Given the description of an element on the screen output the (x, y) to click on. 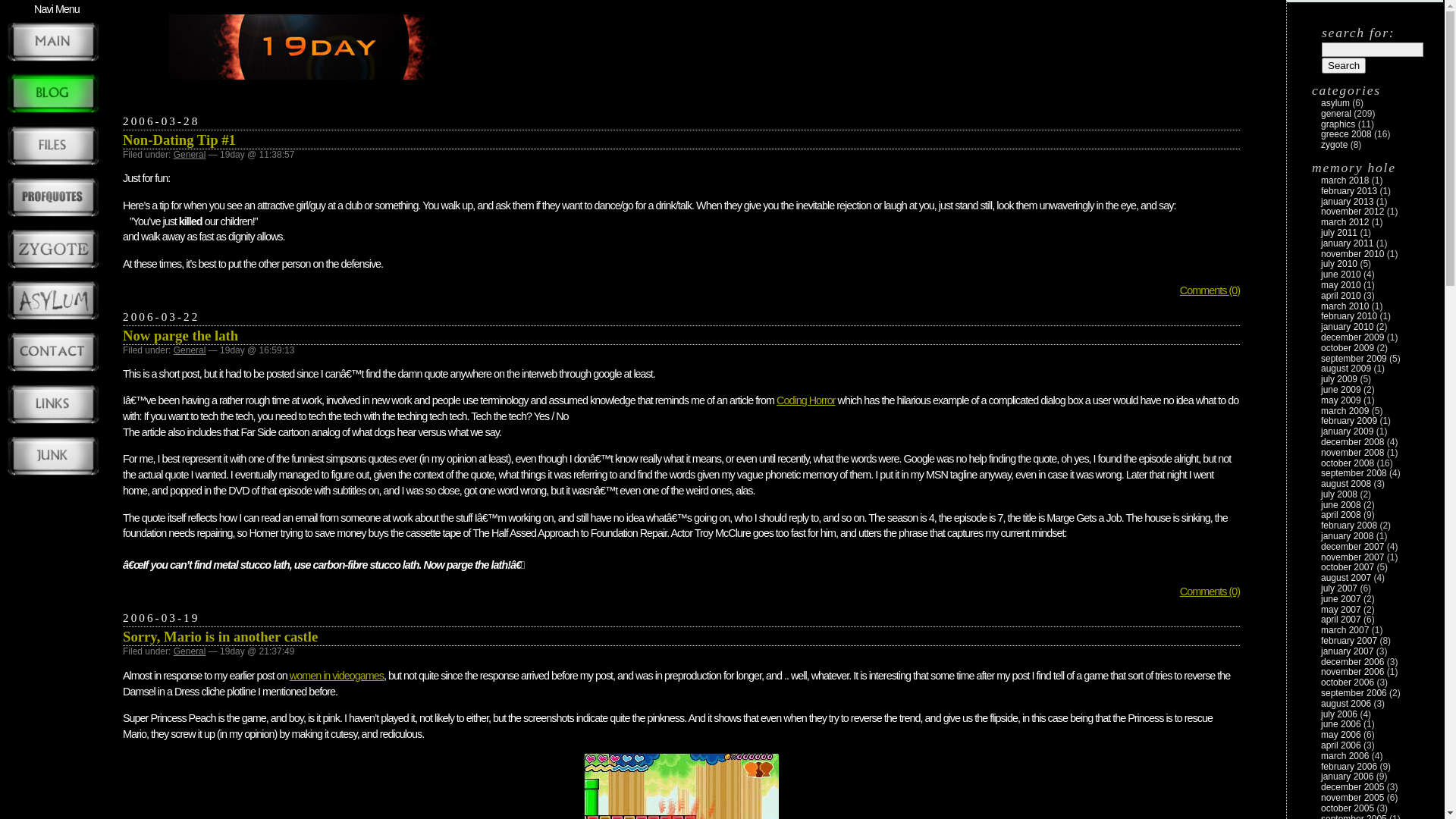
Non-Dating Tip #1 Element type: text (178, 139)
december 2009 Element type: text (1352, 337)
june 2007 Element type: text (1341, 598)
graphics Element type: text (1338, 124)
Coding Horror Element type: text (805, 400)
march 2009 Element type: text (1344, 410)
august 2008 Element type: text (1346, 483)
april 2006 Element type: text (1341, 745)
october 2009 Element type: text (1347, 347)
june 2006 Element type: text (1341, 723)
july 2009 Element type: text (1339, 378)
september 2008 Element type: text (1353, 472)
october 2007 Element type: text (1347, 566)
september 2009 Element type: text (1353, 358)
august 2007 Element type: text (1346, 577)
february 2007 Element type: text (1349, 640)
july 2010 Element type: text (1339, 263)
march 2018 Element type: text (1344, 180)
Now parge the lath Element type: text (180, 335)
september 2006 Element type: text (1353, 692)
Comments (0) Element type: text (1209, 591)
january 2008 Element type: text (1347, 535)
april 2010 Element type: text (1341, 295)
december 2006 Element type: text (1352, 661)
General Element type: text (189, 651)
General Element type: text (189, 350)
february 2013 Element type: text (1349, 190)
may 2010 Element type: text (1341, 284)
february 2006 Element type: text (1349, 766)
august 2006 Element type: text (1346, 703)
february 2010 Element type: text (1349, 315)
december 2007 Element type: text (1352, 546)
january 2011 Element type: text (1347, 243)
women in videogames Element type: text (336, 675)
july 2007 Element type: text (1339, 588)
march 2006 Element type: text (1344, 755)
november 2008 Element type: text (1352, 452)
april 2007 Element type: text (1341, 619)
zygote Element type: text (1334, 144)
november 2010 Element type: text (1352, 253)
august 2009 Element type: text (1346, 368)
january 2013 Element type: text (1347, 201)
general Element type: text (1336, 113)
october 2008 Element type: text (1347, 463)
november 2005 Element type: text (1352, 797)
november 2007 Element type: text (1352, 557)
june 2010 Element type: text (1341, 274)
january 2009 Element type: text (1347, 431)
november 2012 Element type: text (1352, 211)
march 2010 Element type: text (1344, 306)
may 2006 Element type: text (1341, 734)
General Element type: text (189, 154)
asylum Element type: text (1335, 102)
october 2006 Element type: text (1347, 682)
Search Element type: text (1343, 65)
january 2010 Element type: text (1347, 326)
july 2006 Element type: text (1339, 714)
february 2009 Element type: text (1349, 420)
march 2012 Element type: text (1344, 221)
february 2008 Element type: text (1349, 525)
january 2007 Element type: text (1347, 651)
june 2008 Element type: text (1341, 504)
may 2007 Element type: text (1341, 609)
march 2007 Element type: text (1344, 629)
greece 2008 Element type: text (1346, 133)
october 2005 Element type: text (1347, 808)
december 2008 Element type: text (1352, 441)
july 2011 Element type: text (1339, 232)
december 2005 Element type: text (1352, 786)
november 2006 Element type: text (1352, 671)
january 2006 Element type: text (1347, 776)
april 2008 Element type: text (1341, 514)
Sorry, Mario is in another castle Element type: text (219, 636)
may 2009 Element type: text (1341, 400)
Comments (0) Element type: text (1209, 290)
june 2009 Element type: text (1341, 389)
july 2008 Element type: text (1339, 494)
